Given the description of an element on the screen output the (x, y) to click on. 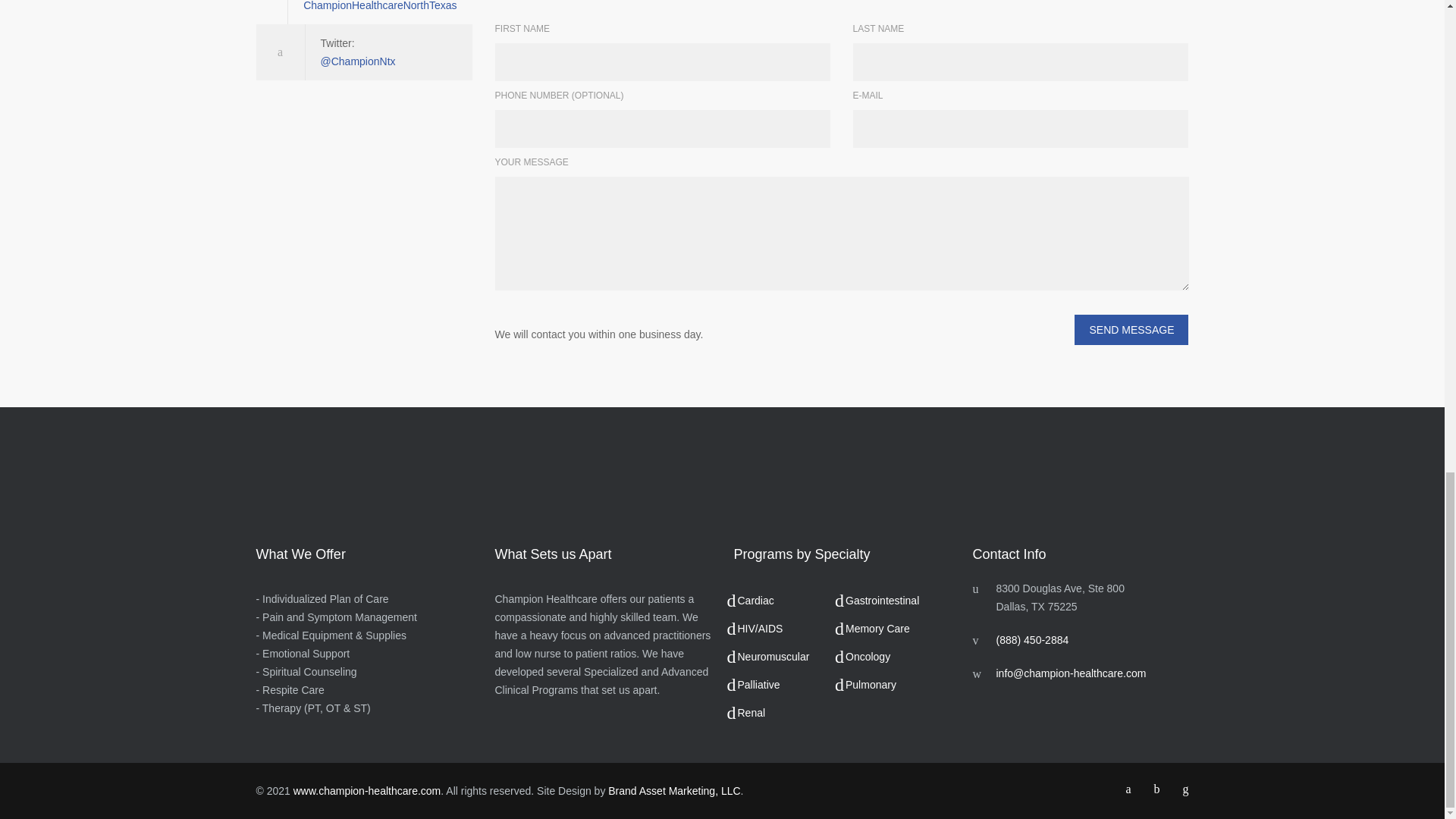
SEND MESSAGE (1131, 329)
SEND MESSAGE (1131, 329)
ChampionHealthcareNorthTexas (379, 5)
Champion Healthcare (367, 790)
